Given the description of an element on the screen output the (x, y) to click on. 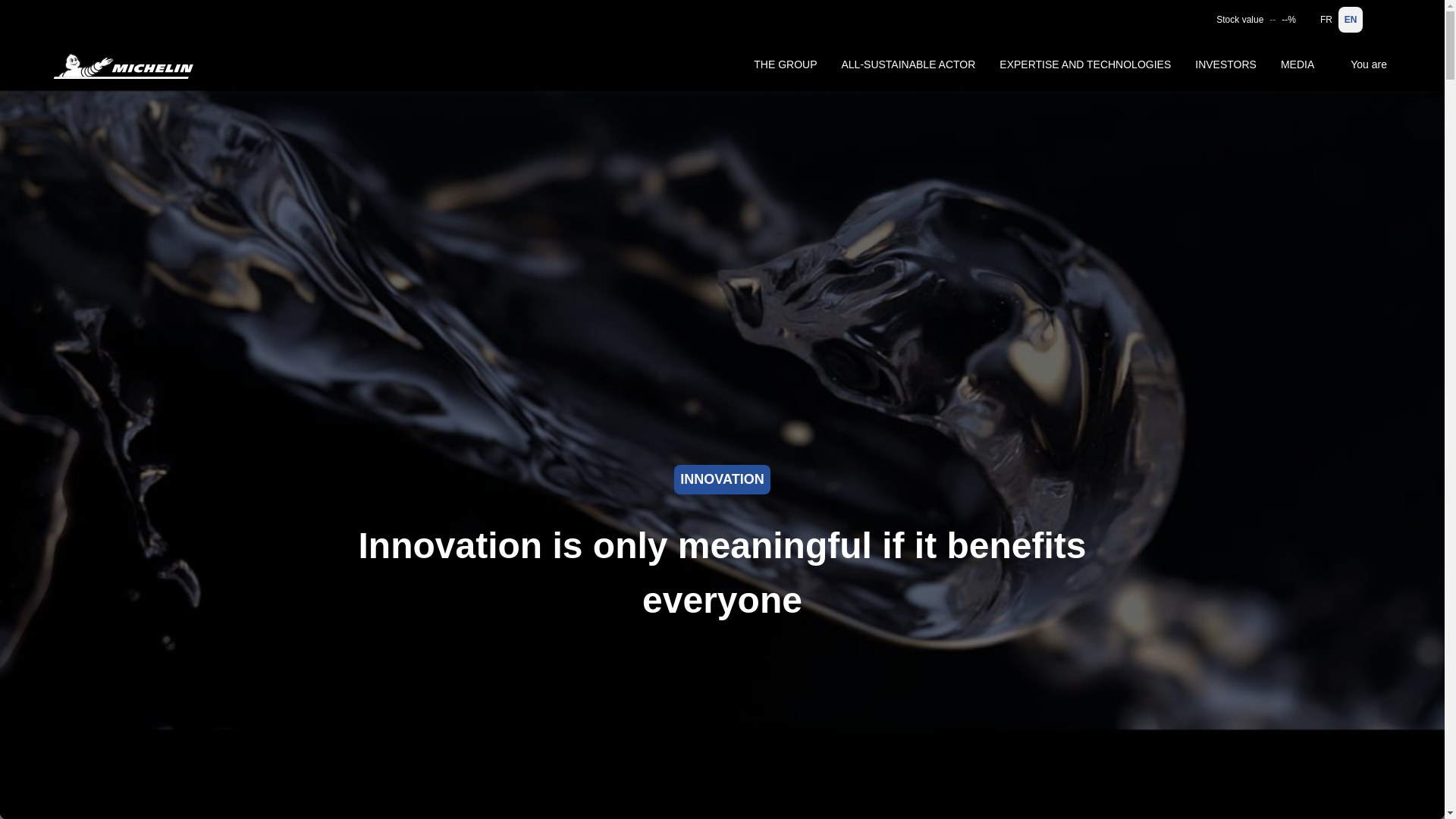
EN (1350, 19)
THE GROUP (785, 64)
FR (1326, 19)
ALL-SUSTAINABLE ACTOR (907, 64)
